Given the description of an element on the screen output the (x, y) to click on. 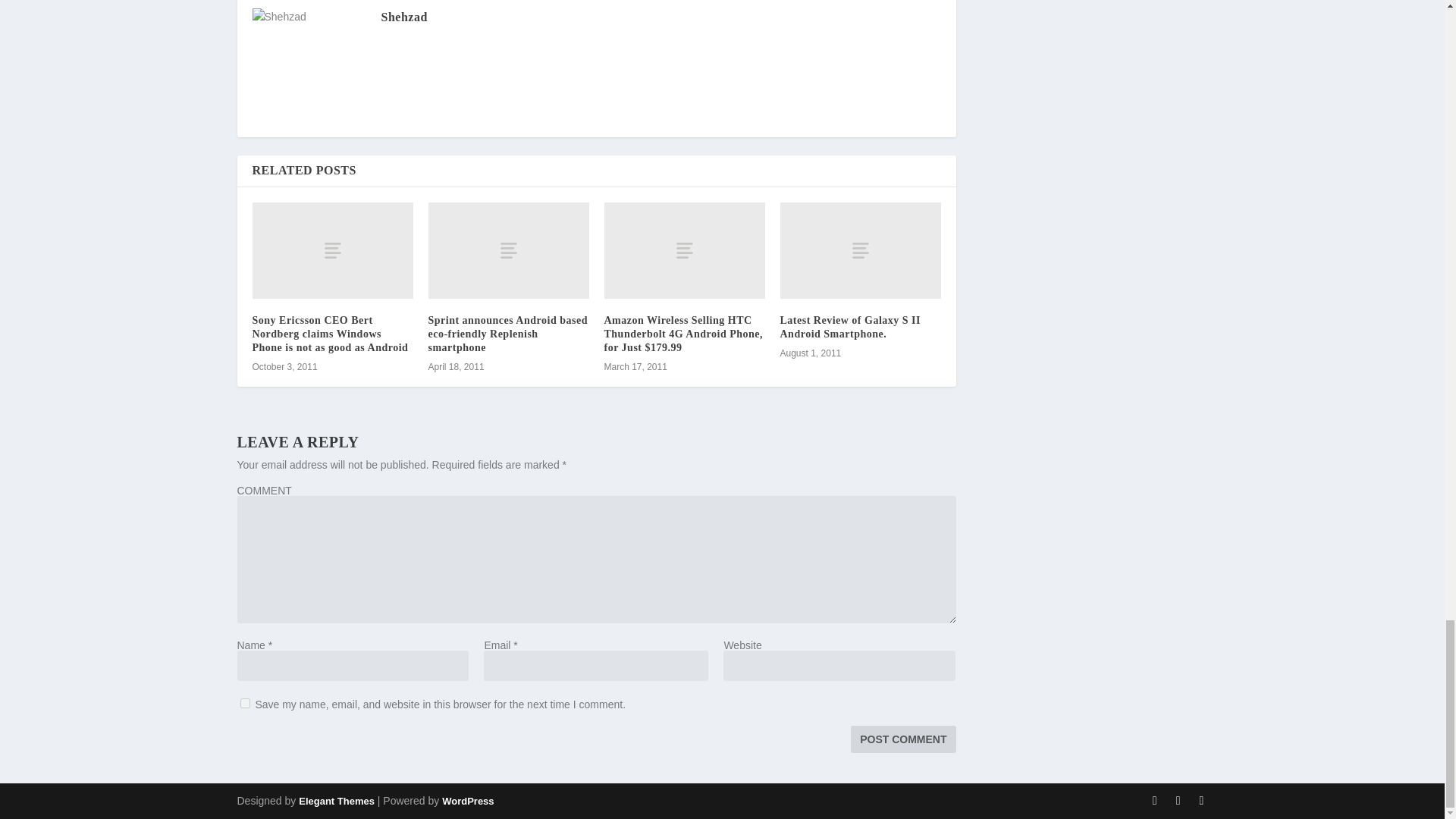
Shehzad (403, 16)
Post Comment (902, 738)
Latest Review of Galaxy S II Android Smartphone. (849, 326)
Post Comment (902, 738)
yes (244, 703)
